Given the description of an element on the screen output the (x, y) to click on. 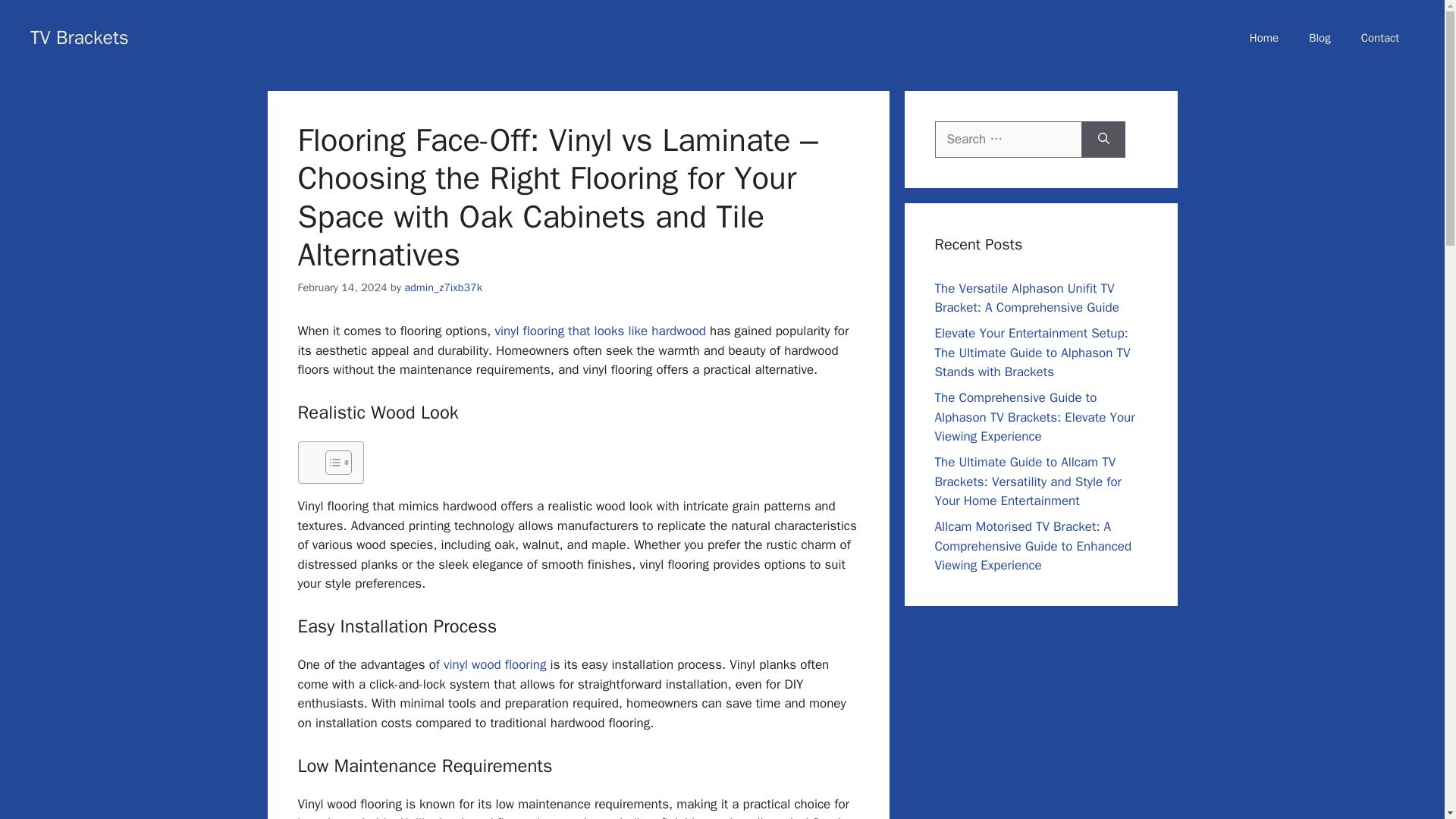
f vinyl wood flooring (491, 664)
Blog (1319, 37)
Contact (1379, 37)
Home (1264, 37)
TV Brackets (79, 37)
